Given the description of an element on the screen output the (x, y) to click on. 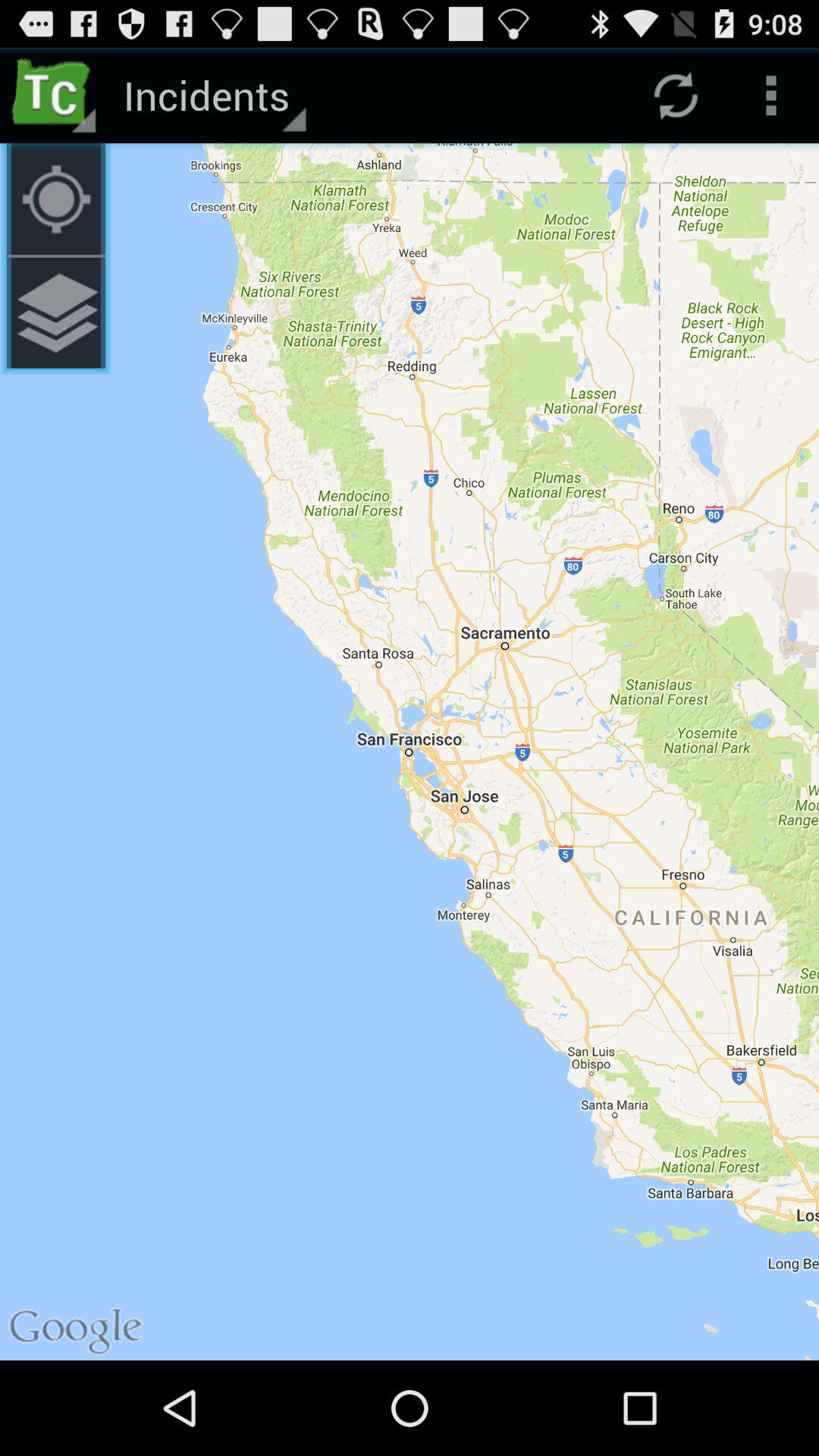
choose app next to incidents icon (55, 198)
